Given the description of an element on the screen output the (x, y) to click on. 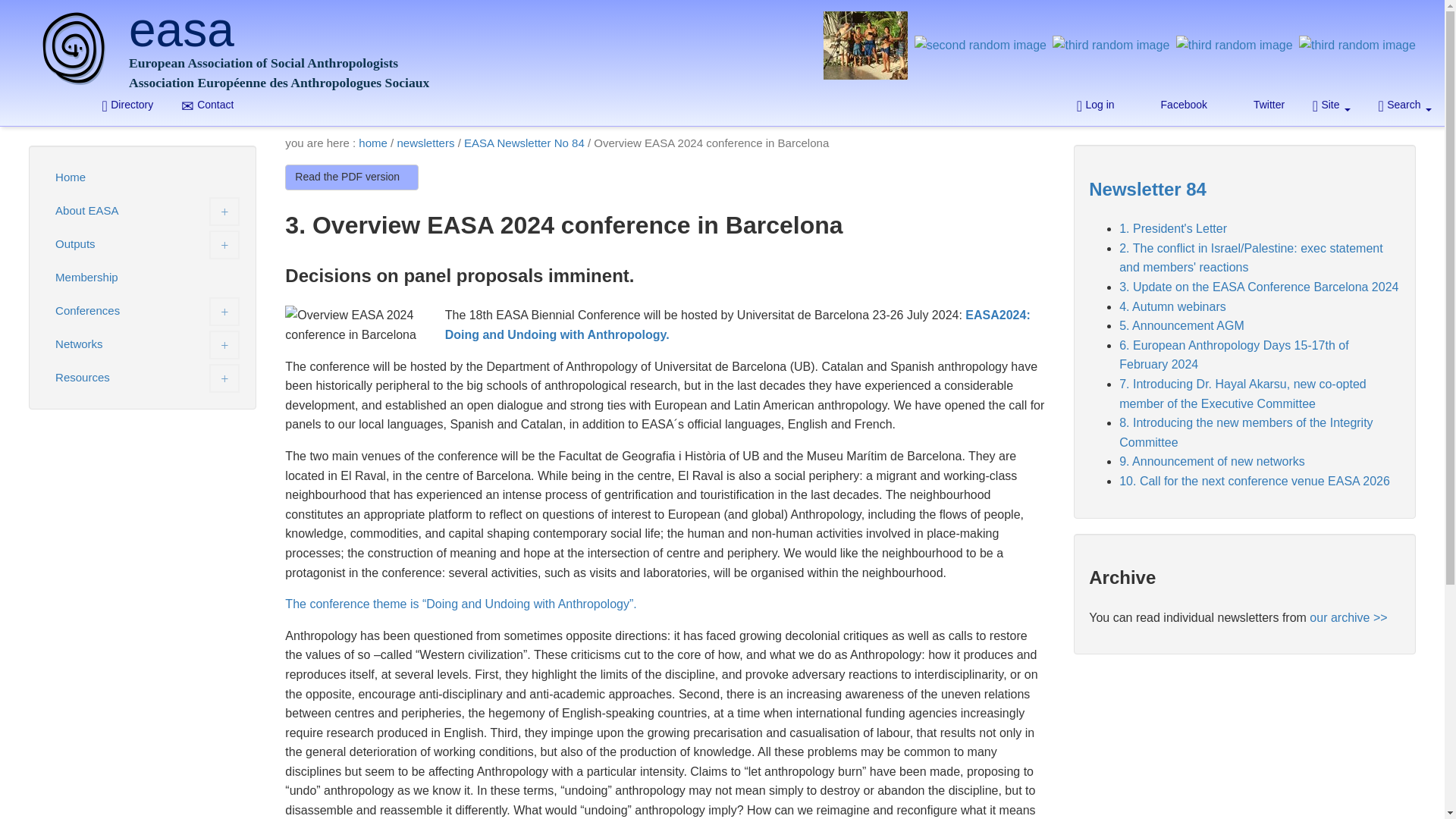
Contact (207, 105)
photo by Dr Roger Canals (1234, 51)
Home (142, 177)
photo by Dr Roger Canals (126, 105)
Site (980, 51)
Facebook (1260, 105)
go to home page (1331, 105)
